Given the description of an element on the screen output the (x, y) to click on. 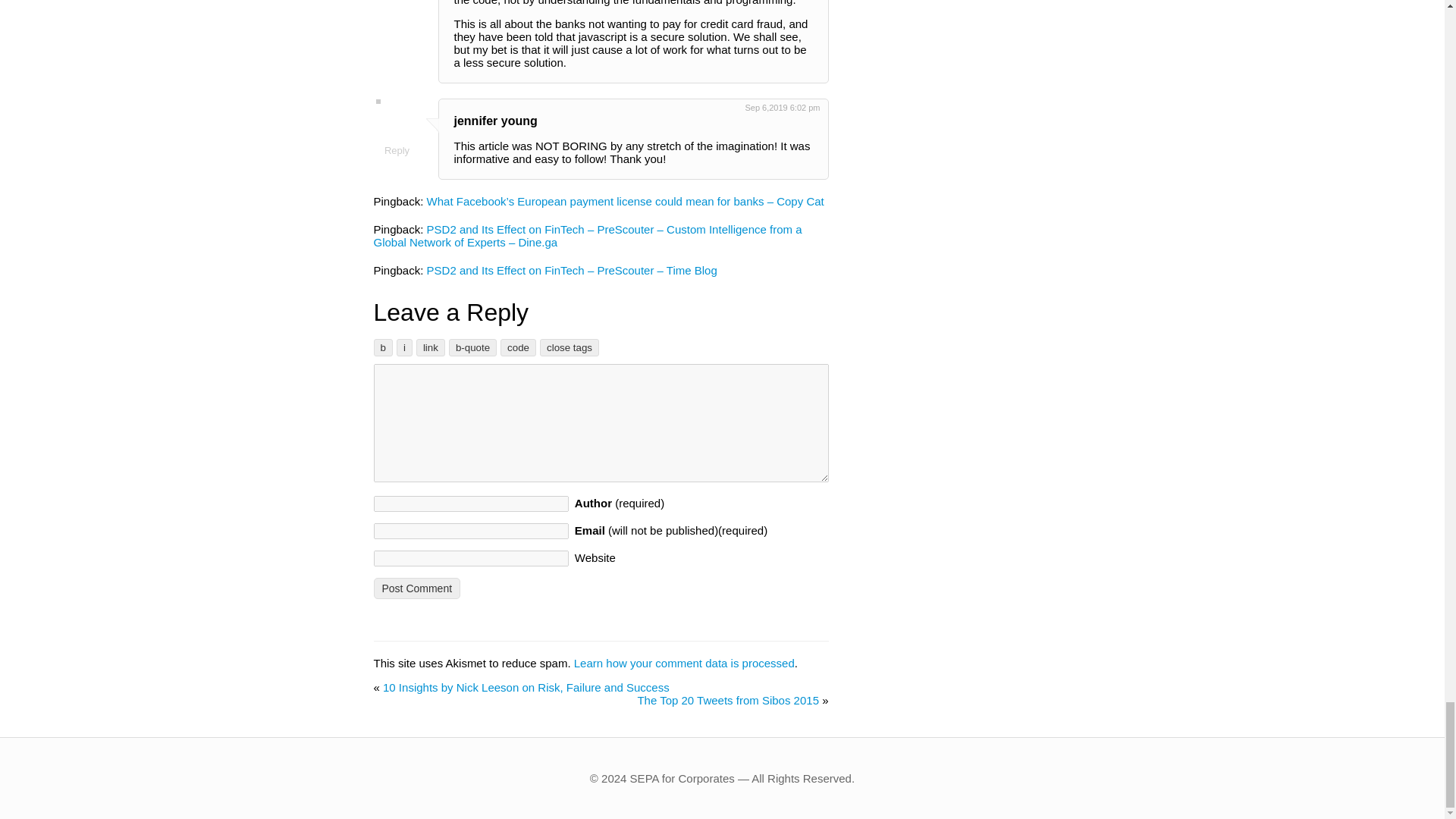
code (517, 347)
b-quote (472, 347)
b (381, 347)
close tags (569, 347)
link (430, 347)
Post Comment (416, 588)
i (404, 347)
Close all open tags (569, 347)
